Given the description of an element on the screen output the (x, y) to click on. 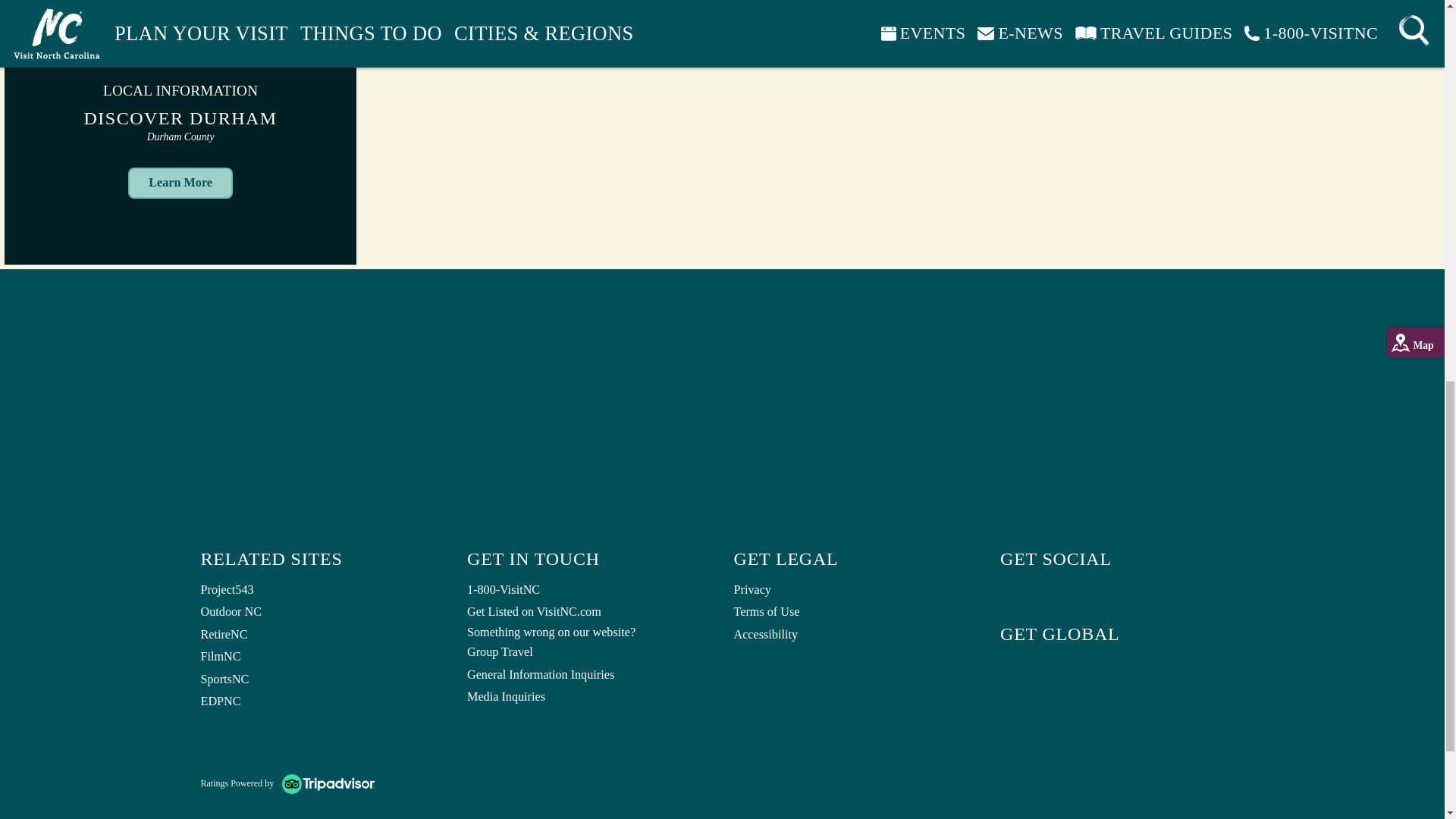
1-800-VisitNC (589, 590)
Outdoor NC (322, 612)
General Information Inquiries (589, 674)
EDPNC (322, 702)
Something wrong on our website? (589, 632)
Project543 (322, 590)
Terms of Use (855, 612)
Group Travel (589, 652)
Accessibility (855, 635)
DISCOVER DURHAM (181, 117)
